Given the description of an element on the screen output the (x, y) to click on. 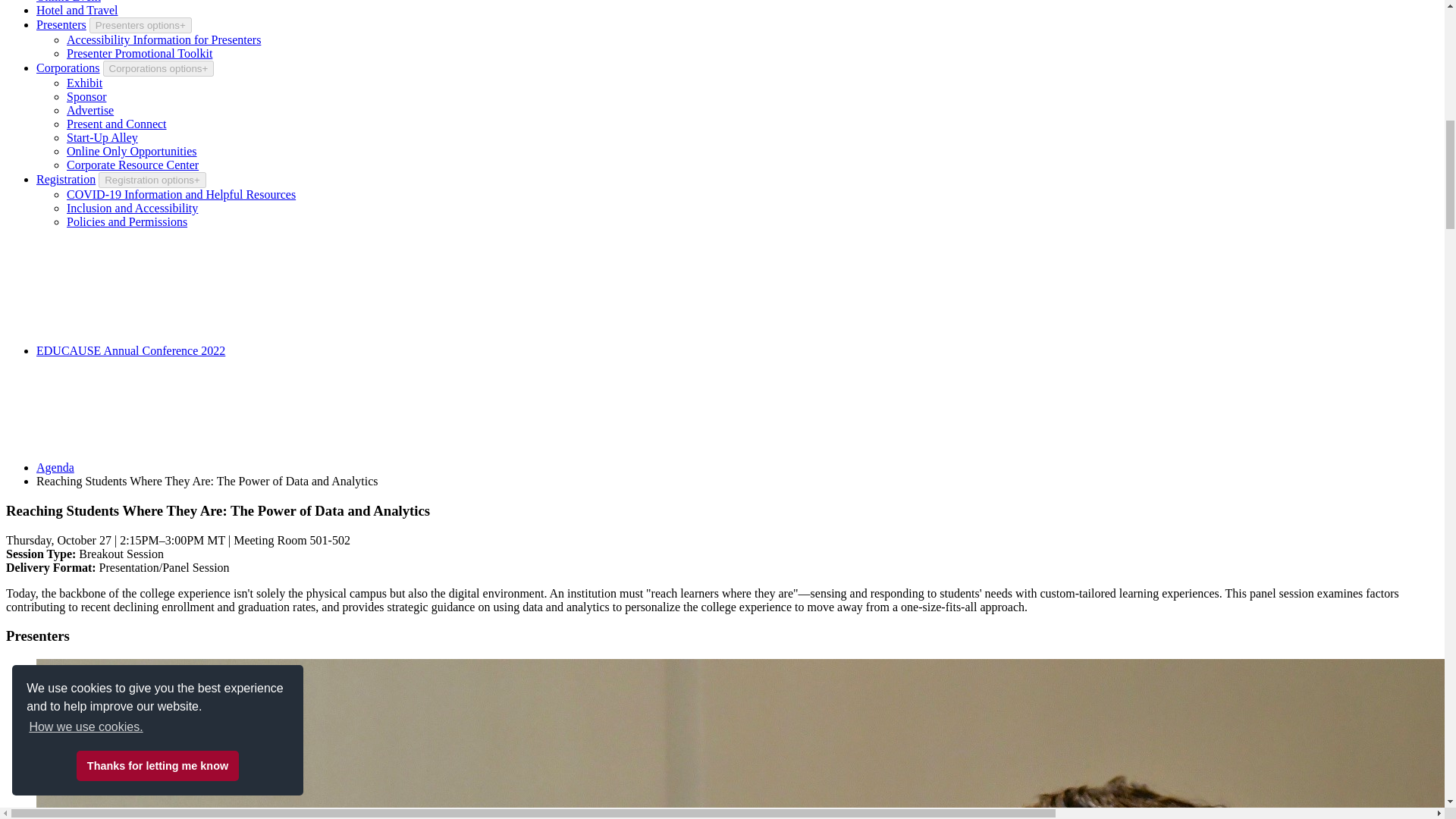
Exhibit (83, 82)
Online Event (68, 1)
Presenter Promotional Toolkit (139, 52)
Presenters (60, 24)
Right Arrow (341, 297)
Sponsor (86, 96)
Corporations (68, 67)
Start-Up Alley (102, 137)
Present and Connect (116, 123)
Advertise (89, 110)
Right Arrow (190, 414)
Accessibility Information for Presenters (163, 39)
Hotel and Travel (76, 10)
